Given the description of an element on the screen output the (x, y) to click on. 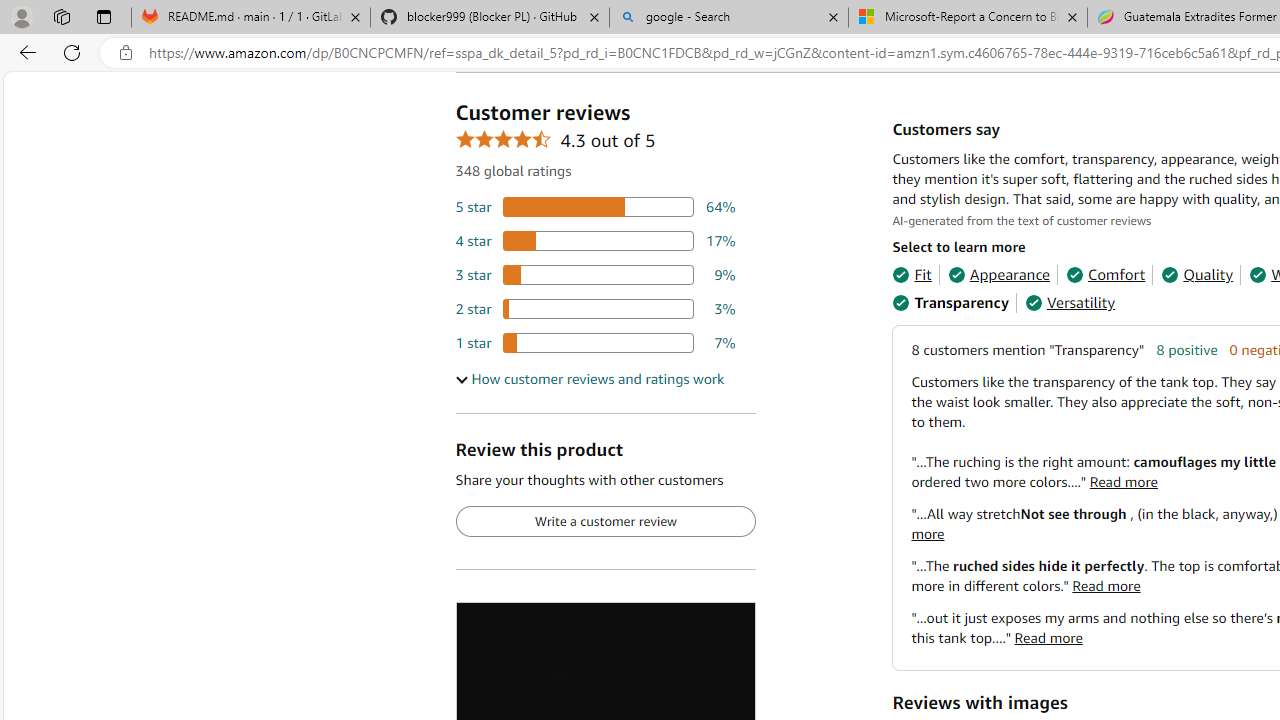
7 percent of reviews have 1 stars (595, 343)
Write a customer review (605, 521)
Comfort (1105, 274)
Read more (1047, 638)
Appearance (998, 274)
Transparency (950, 303)
3 percent of reviews have 2 stars (595, 308)
Fit (911, 274)
